Given the description of an element on the screen output the (x, y) to click on. 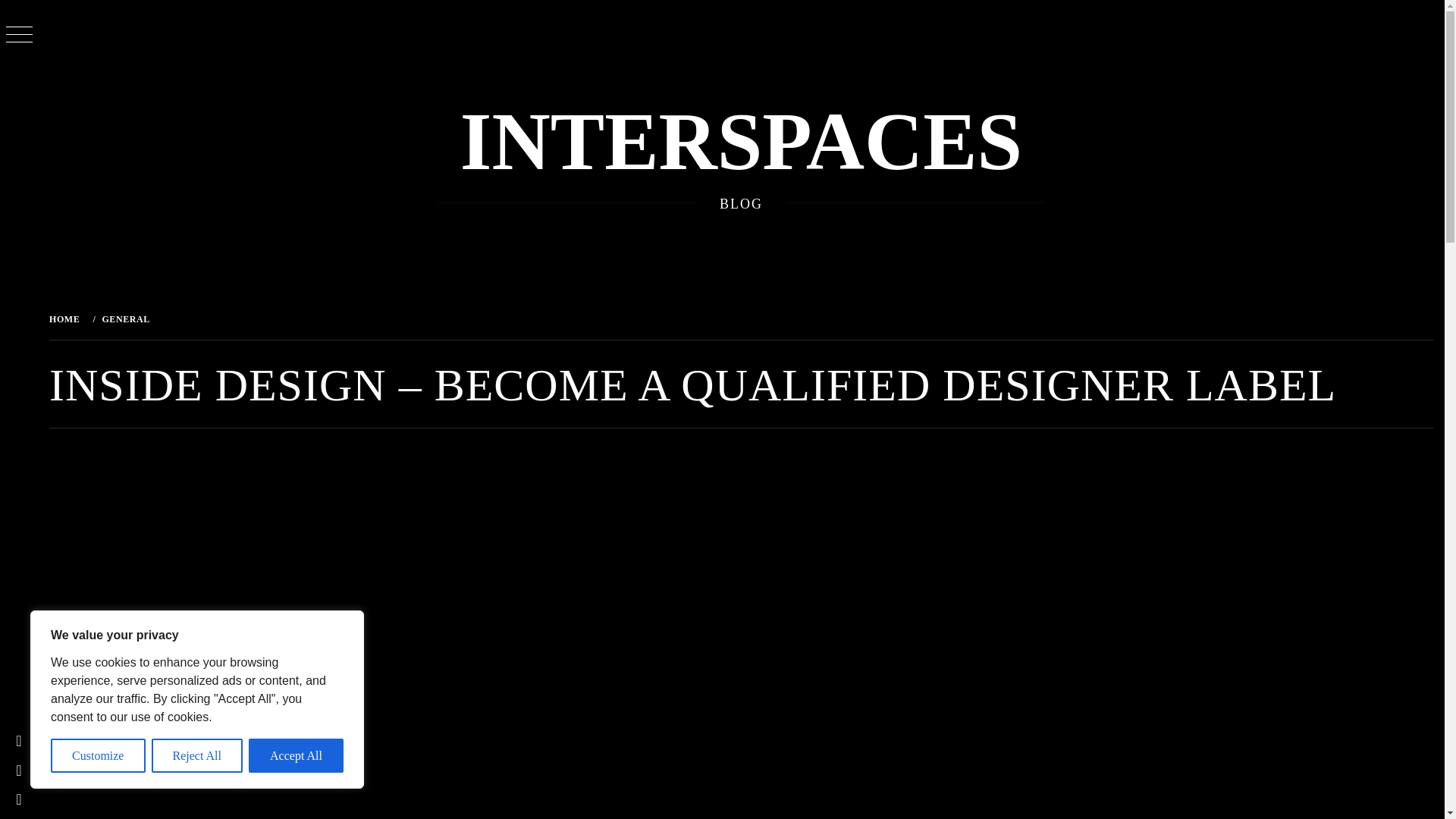
Customize (97, 755)
Accept All (295, 755)
Reject All (197, 755)
GENERAL (124, 318)
INTERSPACES (741, 141)
HOME (66, 318)
